Given the description of an element on the screen output the (x, y) to click on. 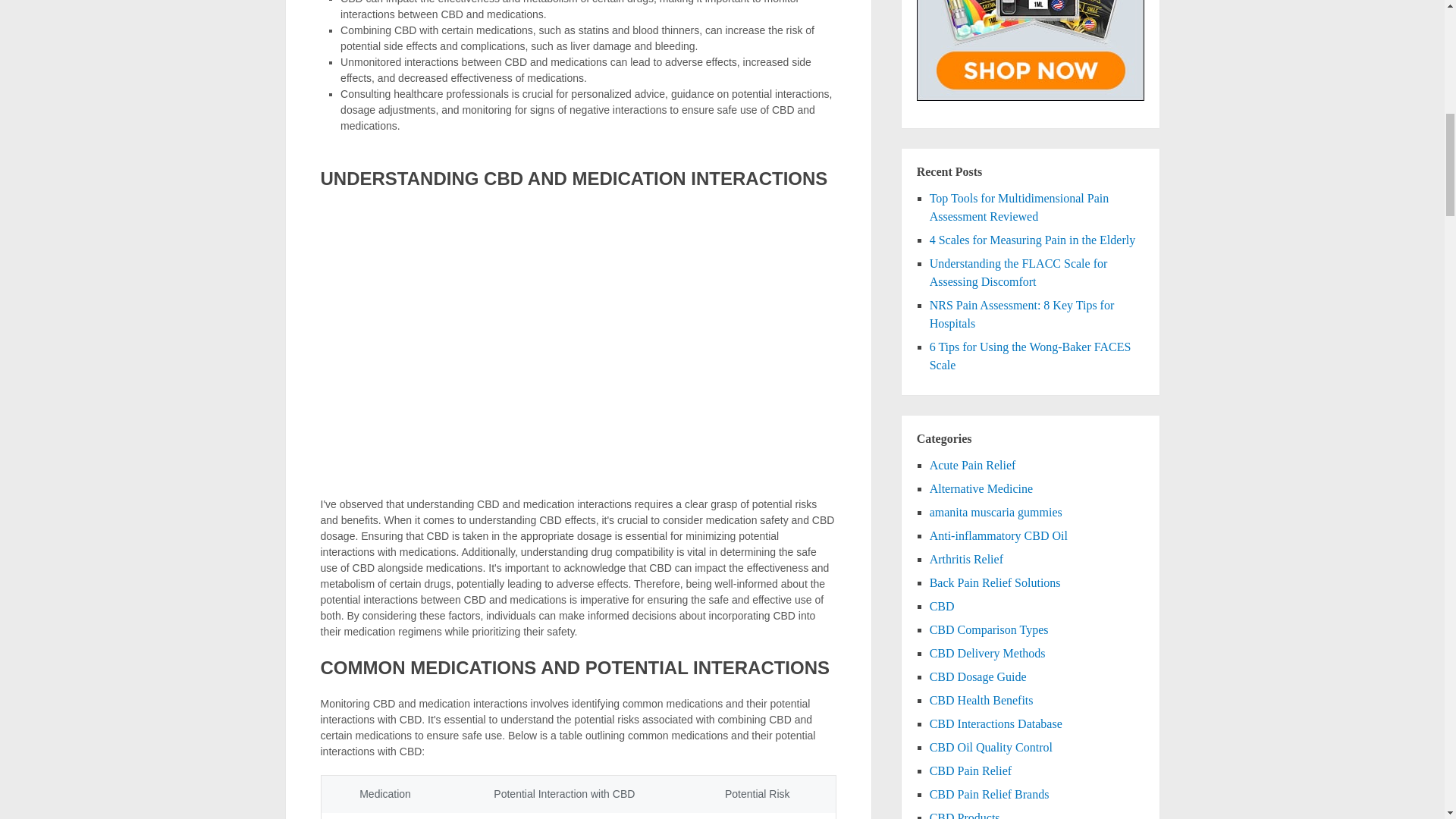
Anti-inflammatory CBD Oil (998, 535)
Top Tools for Multidimensional Pain Assessment Reviewed (1019, 206)
4 Scales for Measuring Pain in the Elderly (1032, 239)
Alternative Medicine (981, 488)
Understanding the FLACC Scale for Assessing Discomfort (1019, 272)
Acute Pain Relief (973, 464)
Arthritis Relief (966, 558)
CBD (942, 605)
6 Tips for Using the Wong-Baker FACES Scale (1030, 355)
amanita muscaria gummies (996, 512)
Back Pain Relief Solutions (995, 582)
NRS Pain Assessment: 8 Key Tips for Hospitals (1022, 314)
